Given the description of an element on the screen output the (x, y) to click on. 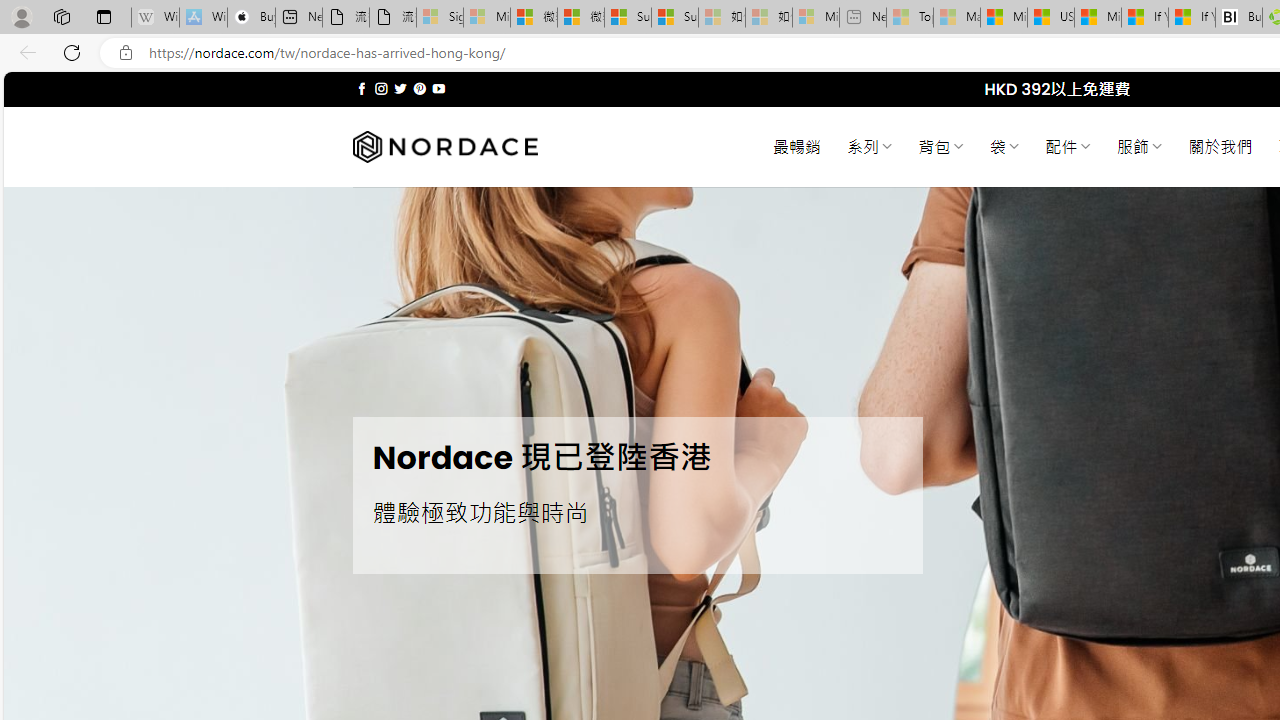
Microsoft account | Account Checkup - Sleeping (815, 17)
Follow on Twitter (400, 88)
Follow on Instagram (381, 88)
Follow on Pinterest (419, 88)
